Given the description of an element on the screen output the (x, y) to click on. 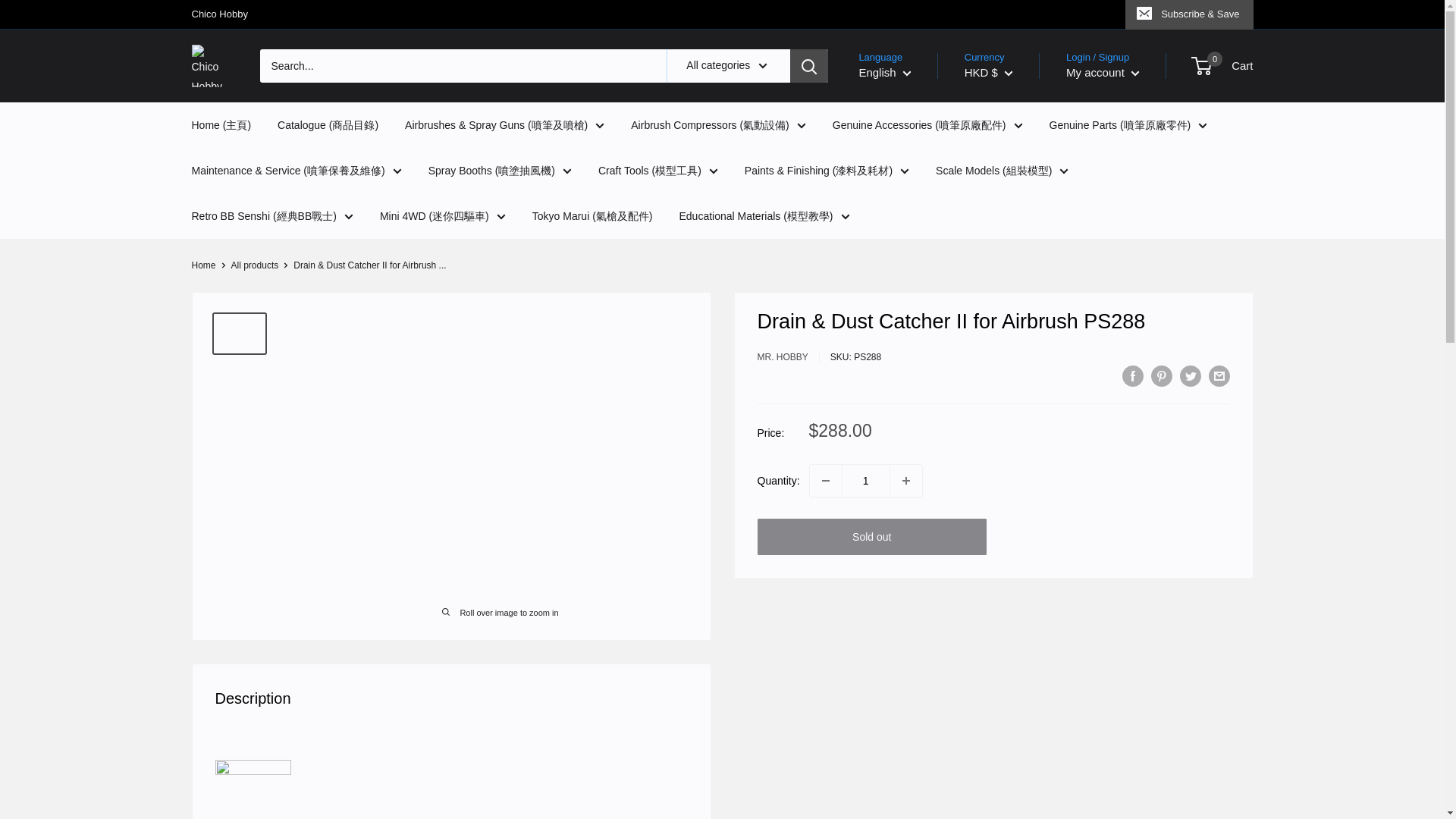
Decrease quantity by 1 (825, 480)
Increase quantity by 1 (905, 480)
1 (865, 480)
